Given the description of an element on the screen output the (x, y) to click on. 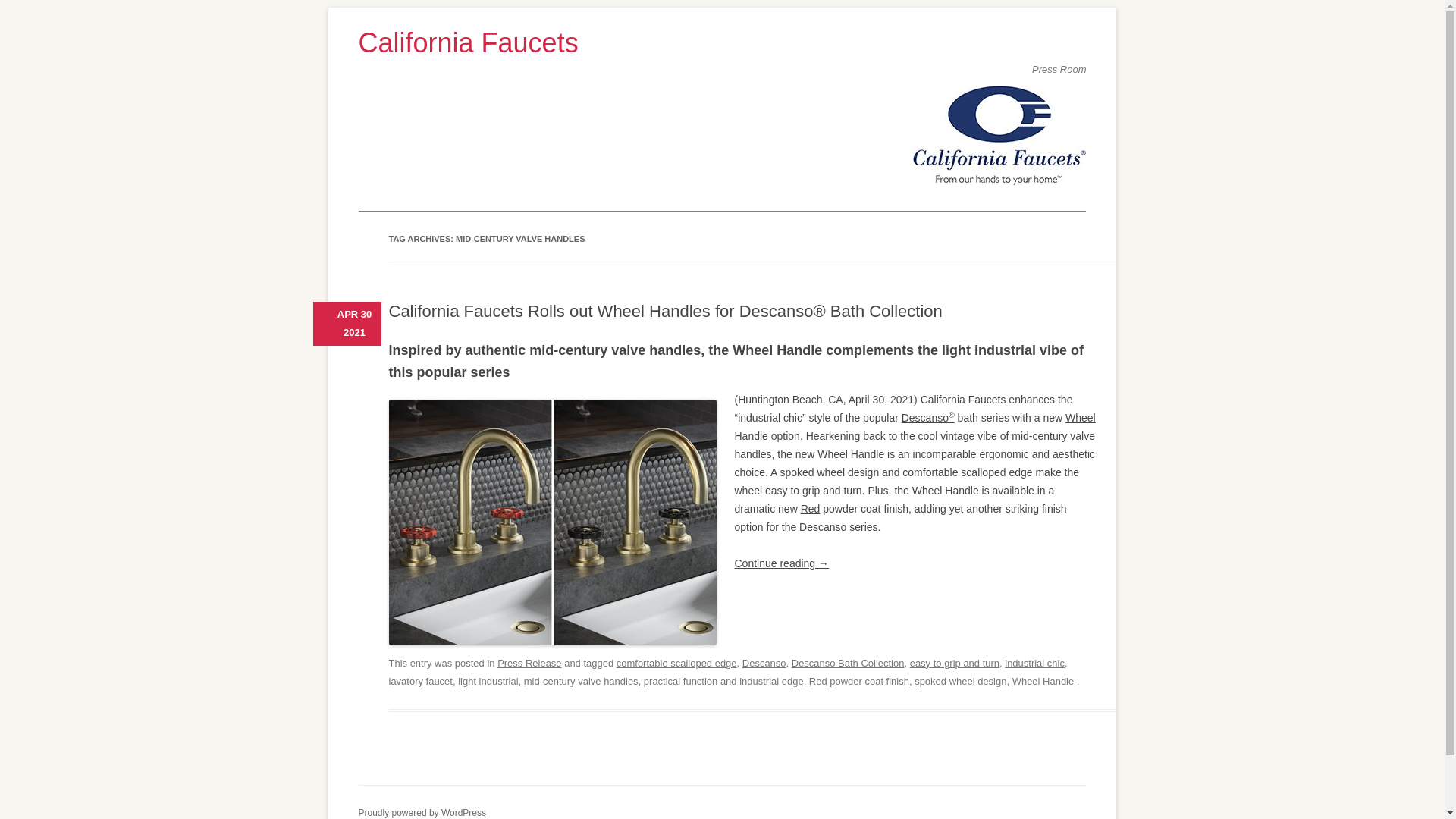
Semantic Personal Publishing Platform (422, 812)
light industrial (488, 681)
Wheel Handle (913, 426)
industrial chic (1034, 663)
California Faucets (722, 42)
Proudly powered by WordPress (422, 812)
Red (810, 508)
Descanso (764, 663)
Press Release (528, 663)
